Given the description of an element on the screen output the (x, y) to click on. 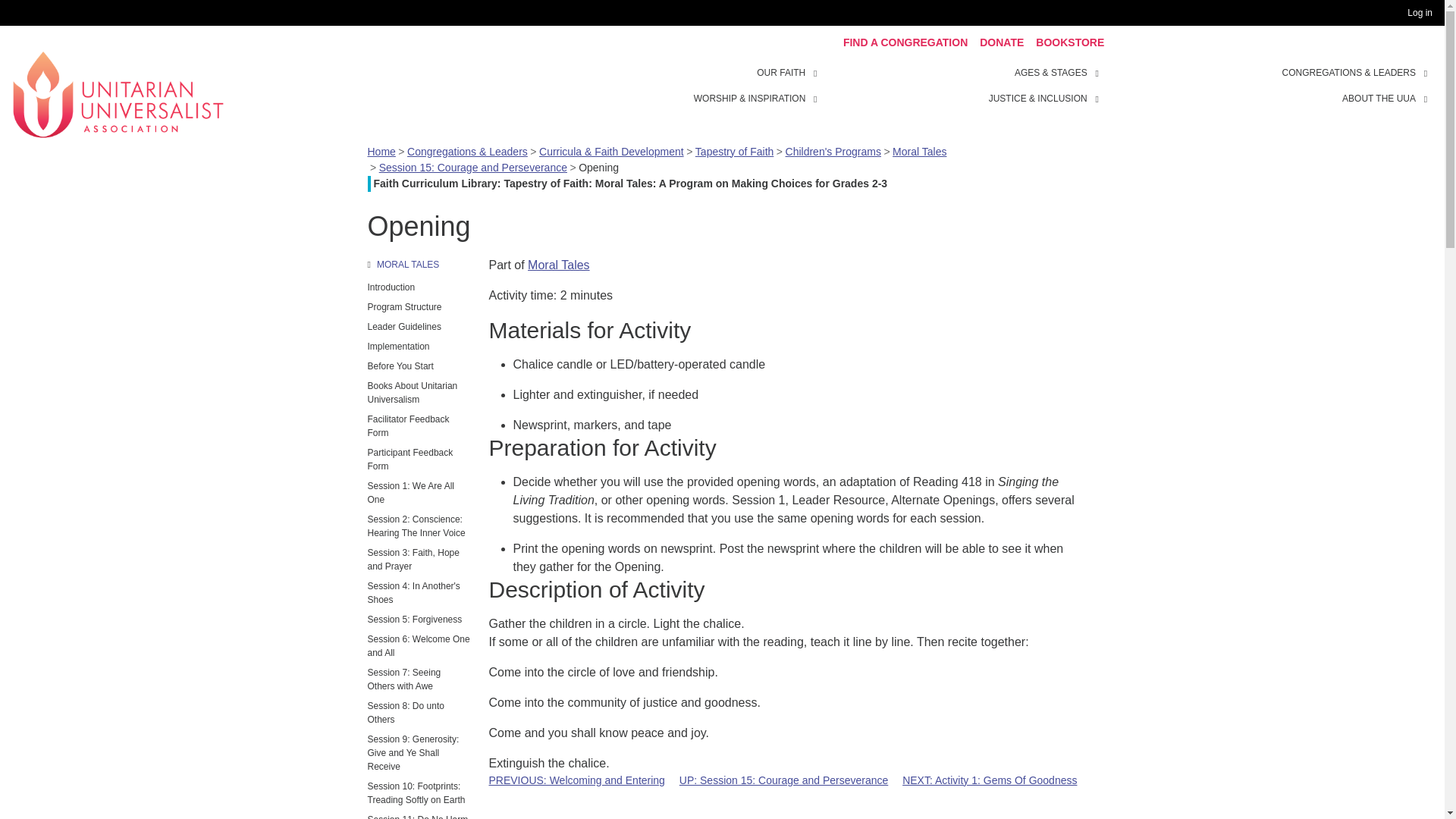
Home (117, 92)
OUR FAITH (817, 71)
FIND A CONGREGATION (905, 42)
Log in (1423, 12)
Go up this menu (418, 264)
DONATE (1001, 42)
BOOKSTORE (1069, 42)
Site Menu (962, 85)
OUR FAITH (781, 72)
